Given the description of an element on the screen output the (x, y) to click on. 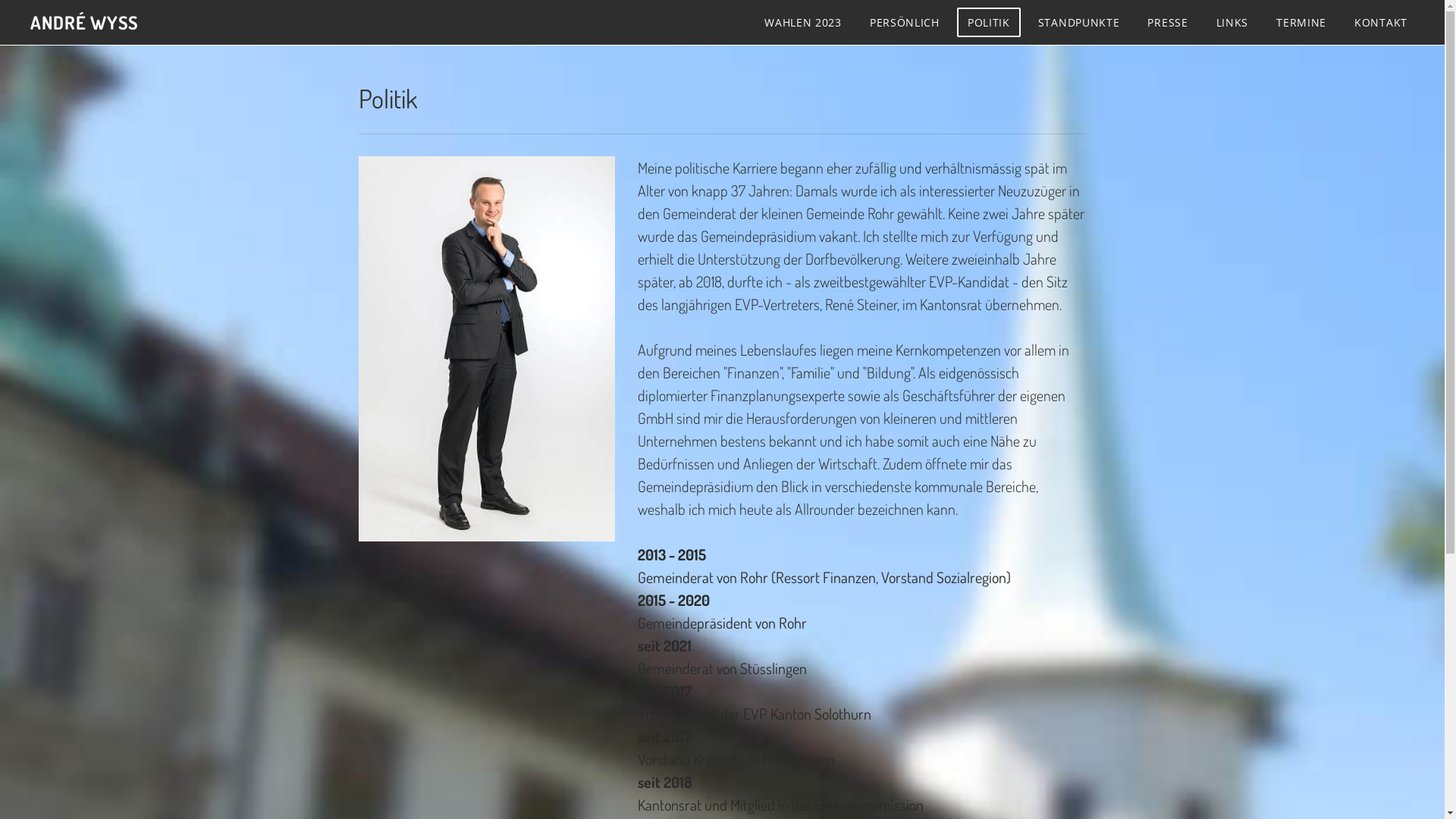
KONTAKT Element type: text (1380, 22)
STANDPUNKTE Element type: text (1078, 22)
TERMINE Element type: text (1300, 22)
LINKS Element type: text (1232, 22)
POLITIK Element type: text (988, 22)
WAHLEN 2023 Element type: text (802, 22)
PRESSE Element type: text (1167, 22)
